Given the description of an element on the screen output the (x, y) to click on. 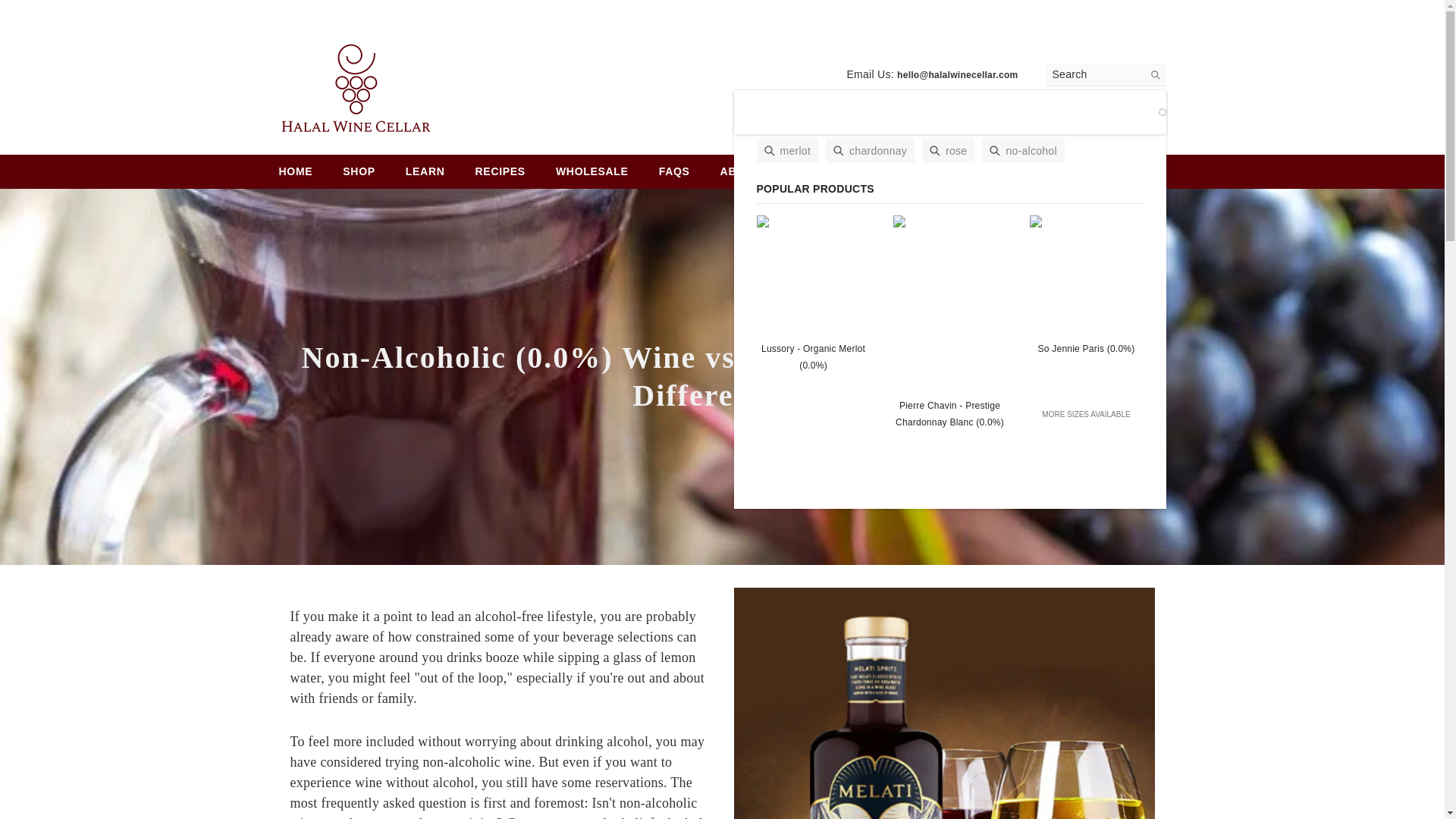
rose (947, 150)
chardonnay (869, 150)
no-alcohol (1022, 150)
